Given the description of an element on the screen output the (x, y) to click on. 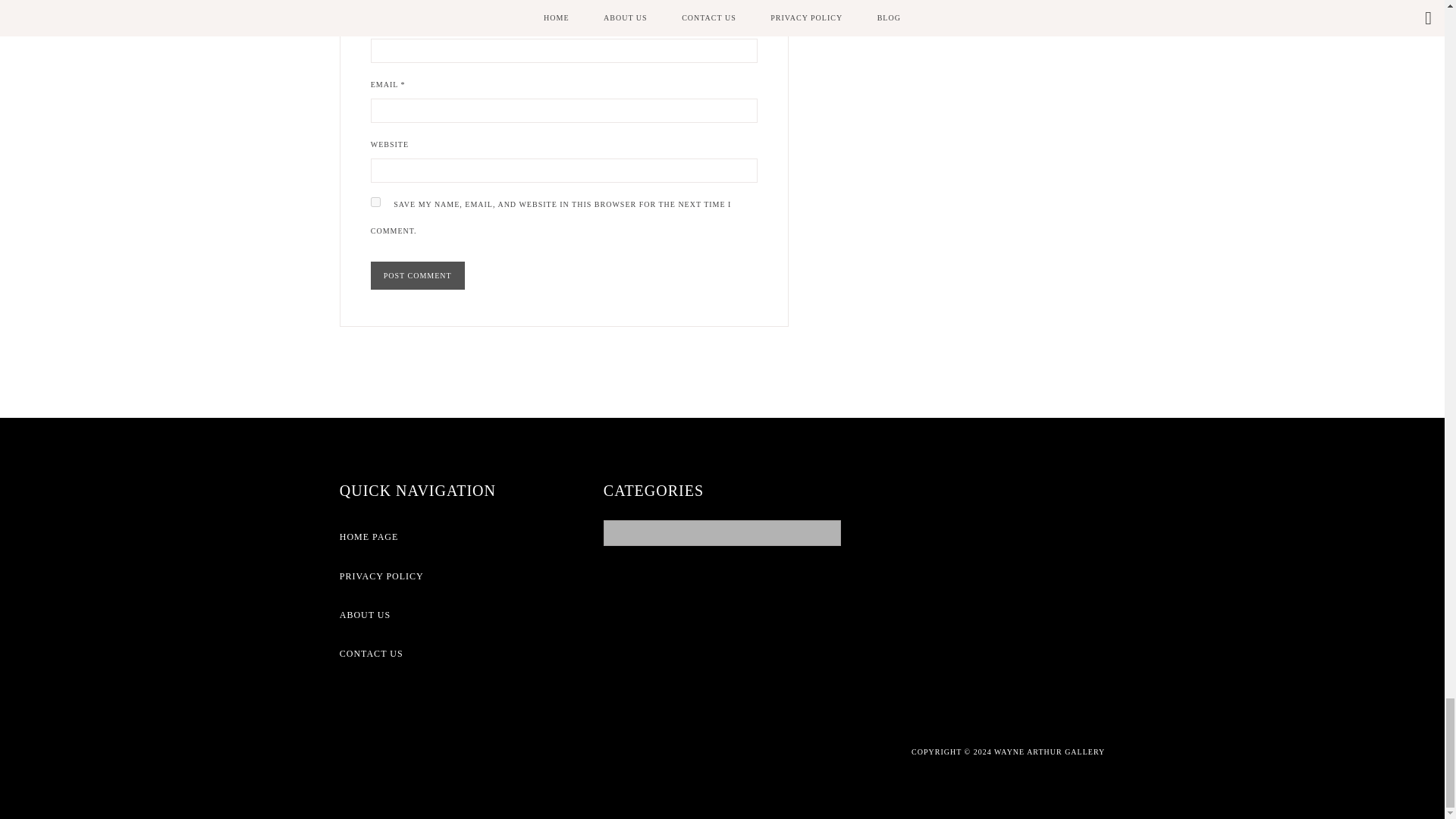
PRIVACY POLICY (457, 576)
CONTACT US (457, 653)
Post Comment (417, 275)
ABOUT US (457, 615)
yes (375, 202)
Post Comment (417, 275)
HOME PAGE (457, 536)
